Given the description of an element on the screen output the (x, y) to click on. 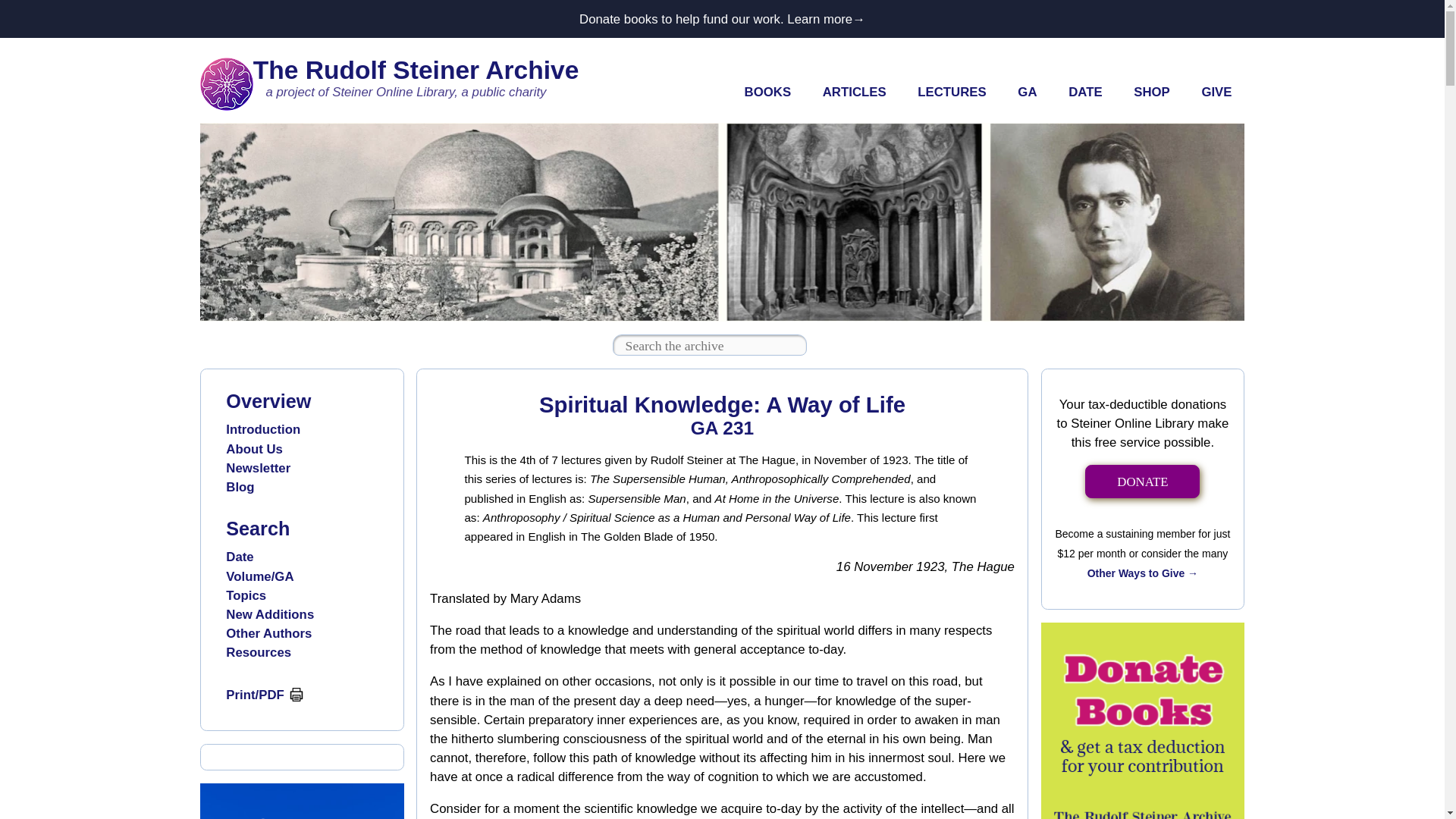
GA (1027, 92)
Newsletter (257, 468)
Introduction (262, 429)
New Additions (269, 614)
About Us (253, 449)
DONATE (1141, 481)
The Rudolf Steiner Archive (416, 70)
Resources (258, 652)
LECTURES (951, 92)
Topics (245, 595)
Date (239, 556)
Other Authors (268, 633)
BOOKS (767, 92)
Blog (239, 486)
SHOP (1151, 92)
